Given the description of an element on the screen output the (x, y) to click on. 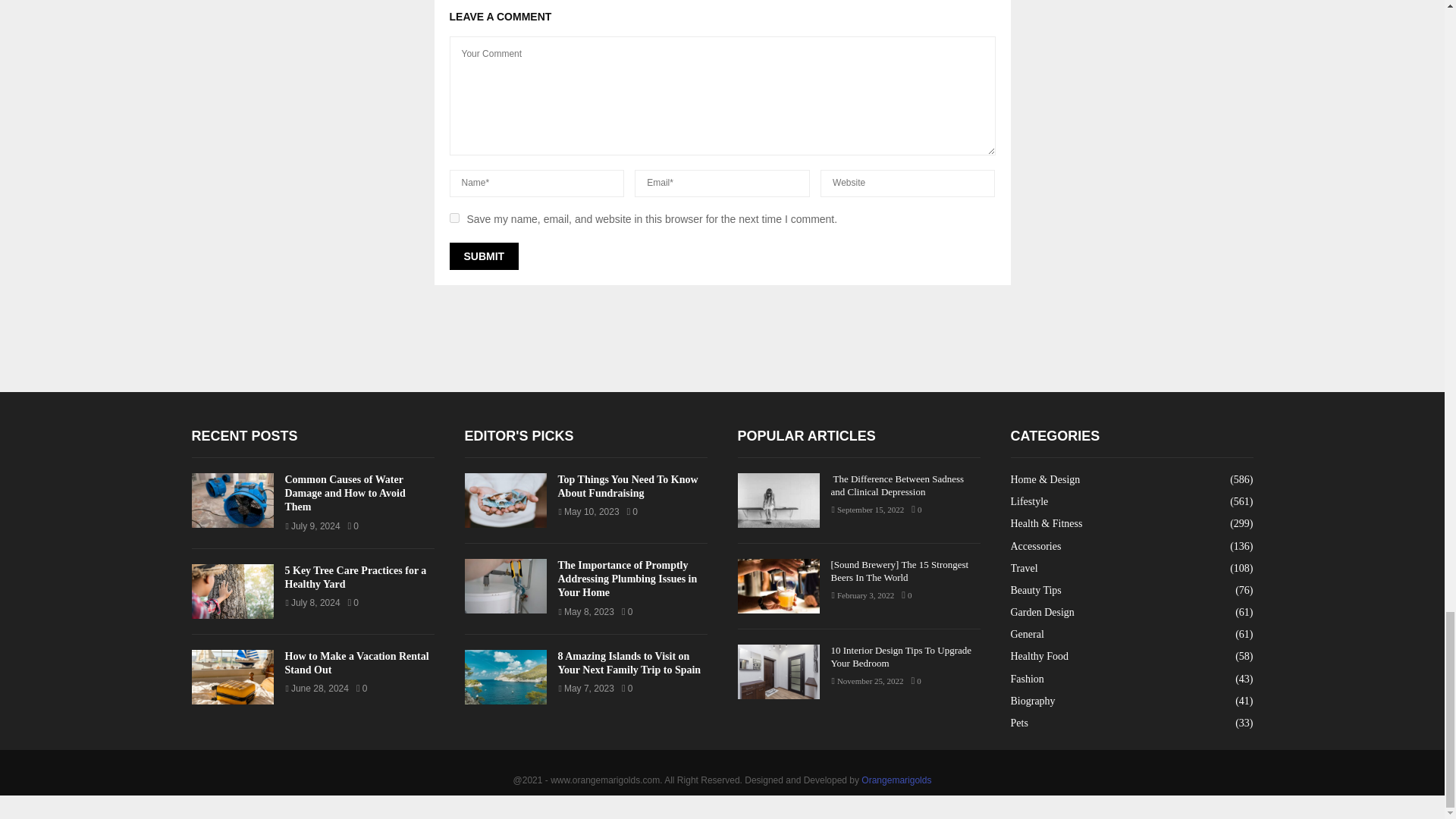
yes (453, 217)
Submit (483, 256)
